Given the description of an element on the screen output the (x, y) to click on. 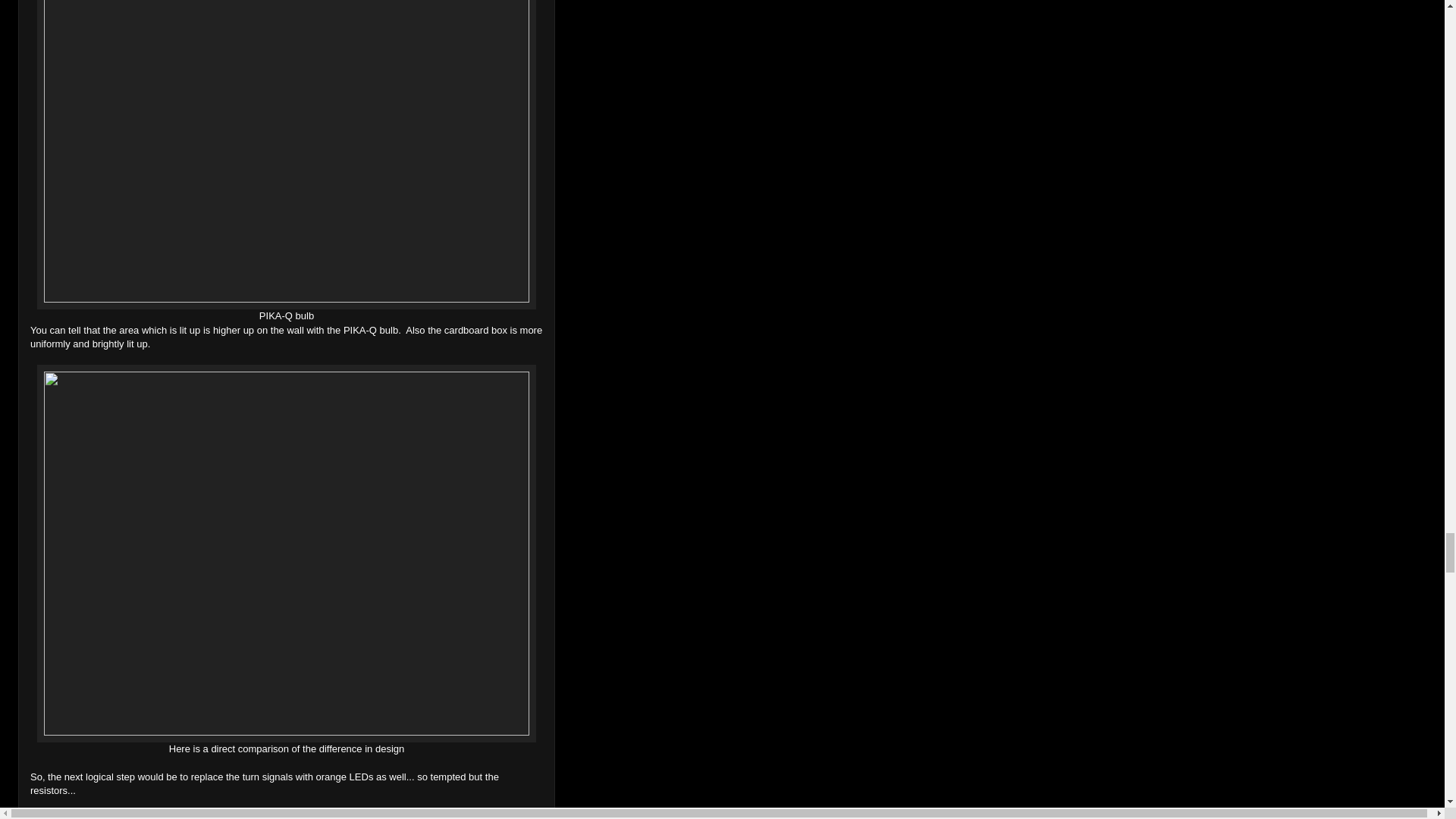
Email Post (214, 817)
author profile (85, 817)
permanent link (123, 817)
